Given the description of an element on the screen output the (x, y) to click on. 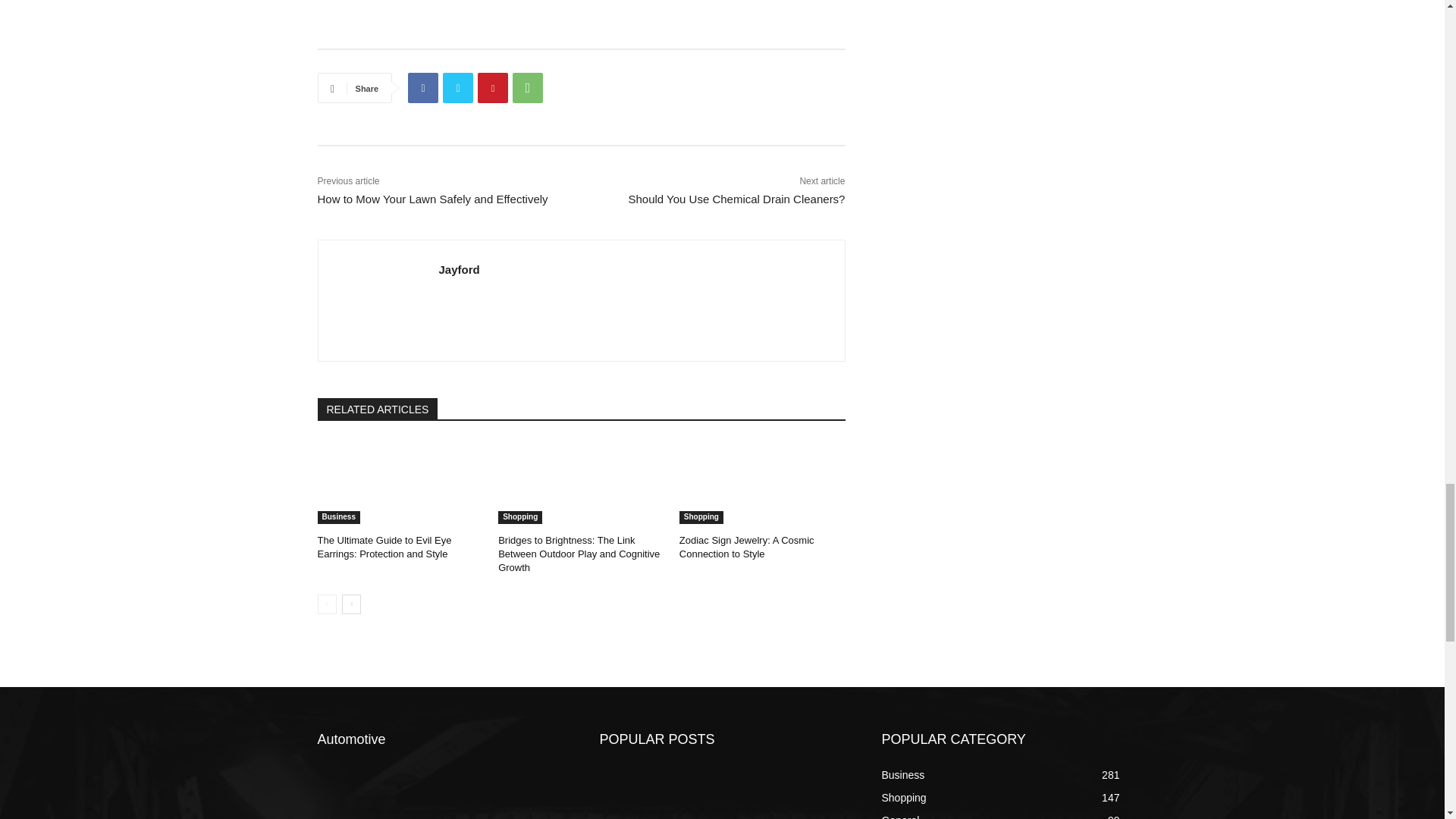
Facebook (422, 87)
Twitter (457, 87)
